Given the description of an element on the screen output the (x, y) to click on. 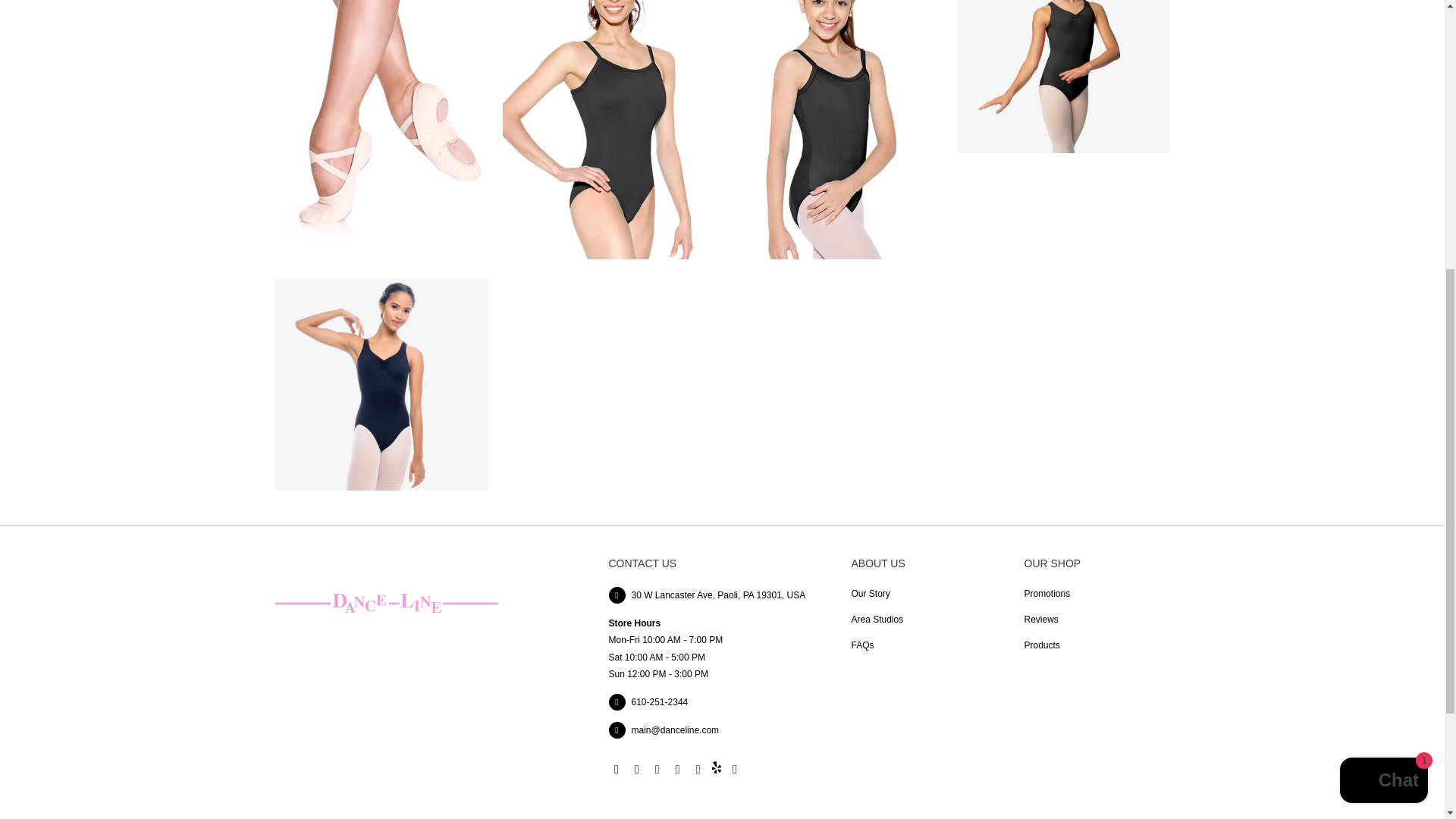
DanceLine on Twitter (616, 769)
DanceLine on Facebook (636, 769)
